Given the description of an element on the screen output the (x, y) to click on. 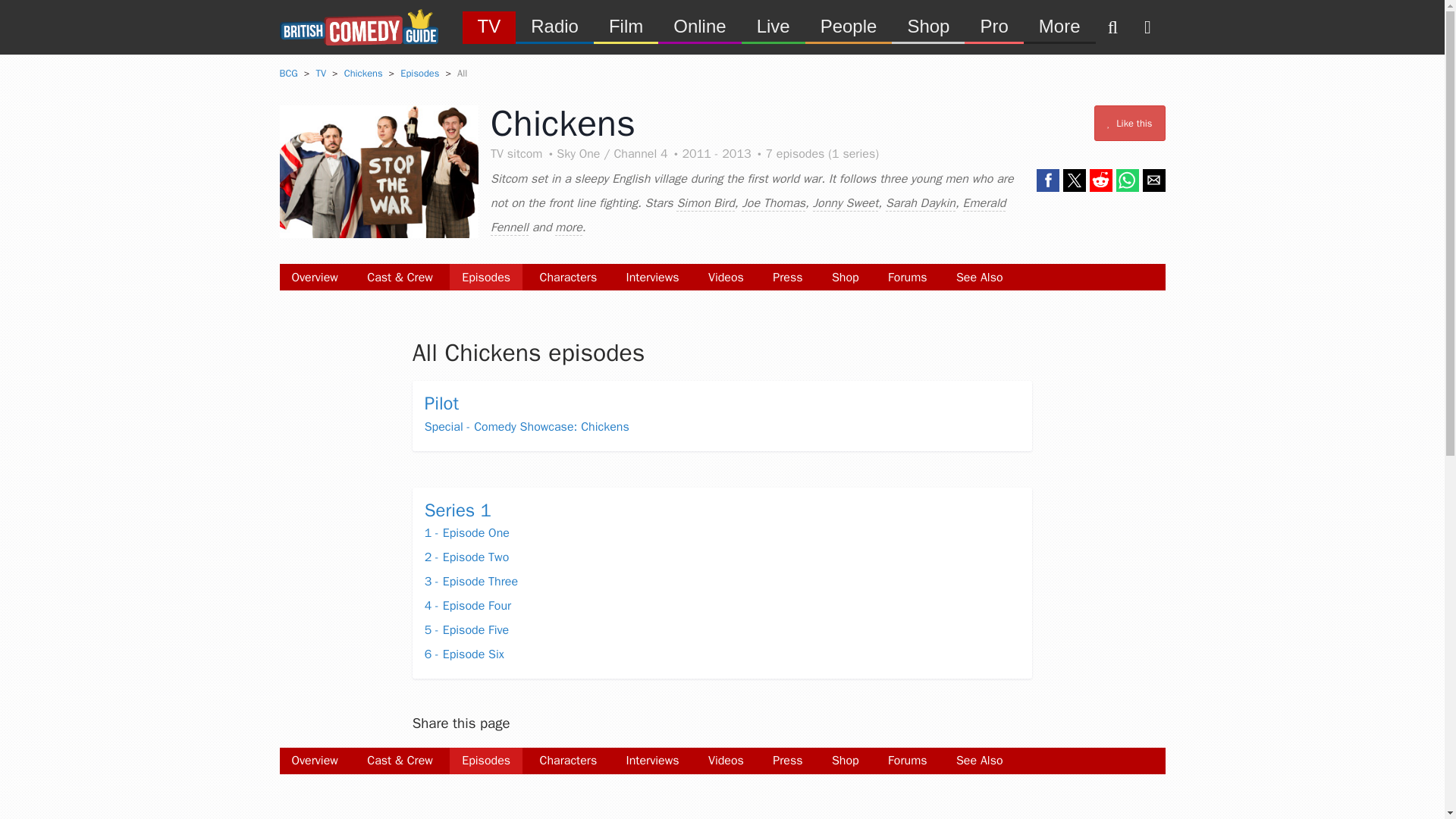
BCG (288, 73)
Interviews (652, 276)
Pro (993, 25)
Simon Bird (705, 203)
More (1059, 25)
Emerald Fennell (748, 215)
Online (699, 25)
TV (489, 25)
Shop (844, 276)
Jonny Sweet (845, 203)
